Given the description of an element on the screen output the (x, y) to click on. 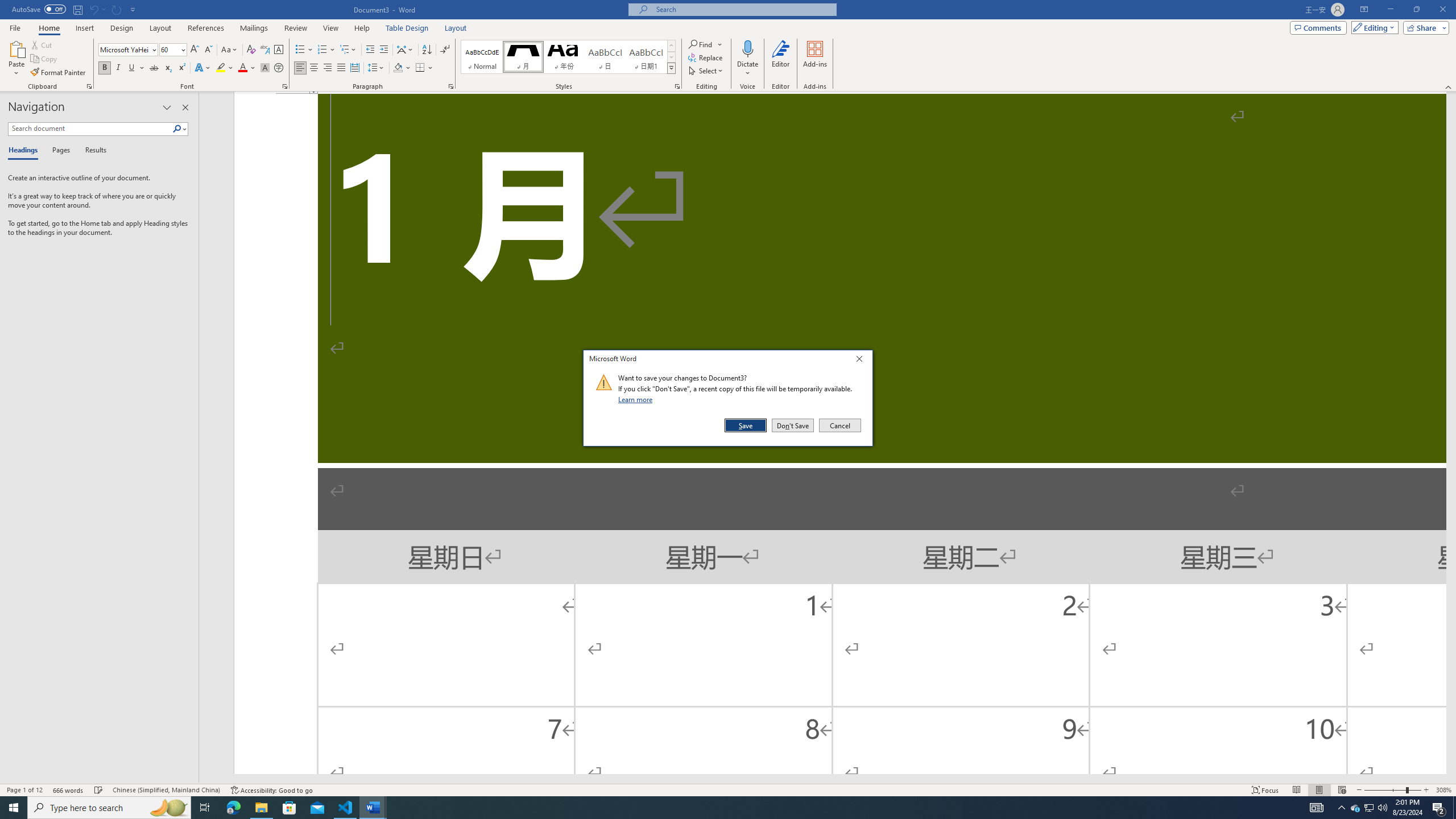
Task Pane Options (167, 107)
Styles... (676, 85)
Close (862, 360)
Action Center, 2 new notifications (1439, 807)
Row up (670, 45)
Comments (1318, 27)
File Explorer - 1 running window (261, 807)
Phonetic Guide... (264, 49)
Web Layout (1342, 790)
Asian Layout (405, 49)
Borders (424, 67)
Help (361, 28)
Word - 2 running windows (373, 807)
Line and Paragraph Spacing (376, 67)
